Given the description of an element on the screen output the (x, y) to click on. 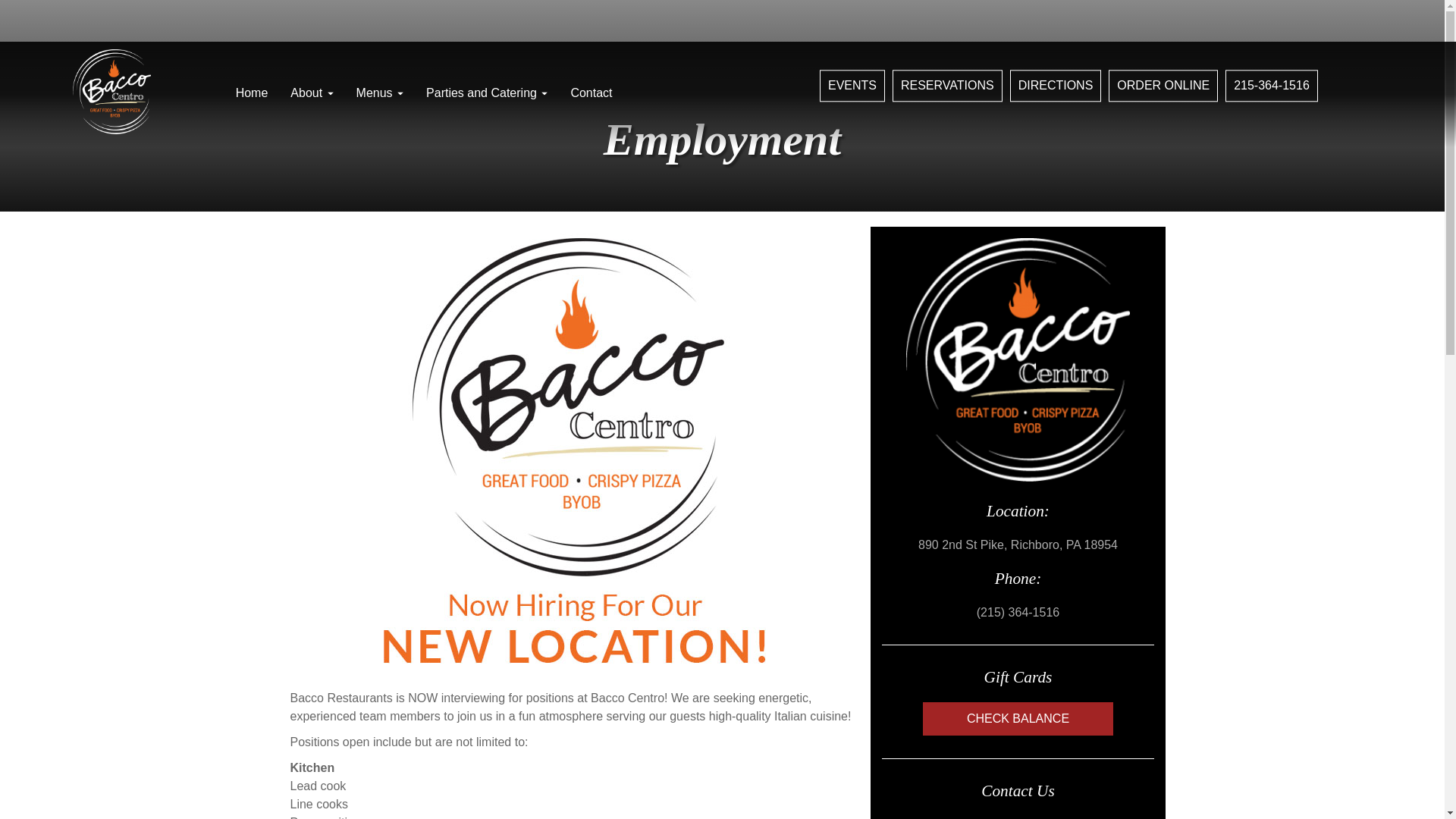
Parties and Catering (486, 93)
215-364-1516 (1271, 85)
Directions (1055, 85)
215-364-1516 (1271, 85)
Home (251, 93)
Parties and Catering (486, 93)
Contact (591, 93)
ORDER ONLINE (1163, 85)
CHECK BALANCE (1017, 718)
DIRECTIONS (1055, 85)
